Given the description of an element on the screen output the (x, y) to click on. 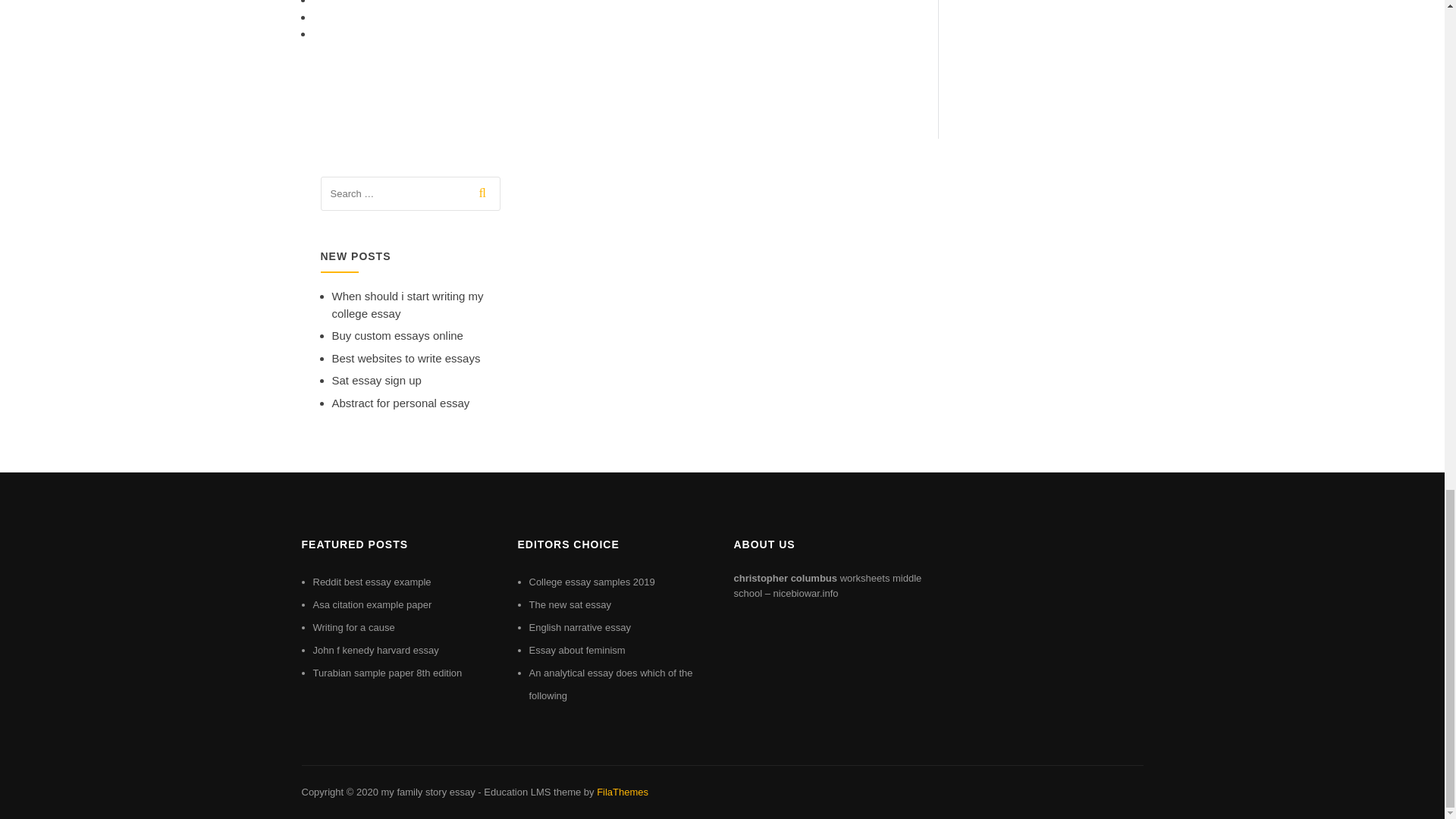
Buy custom essays online (397, 335)
English narrative essay (579, 627)
College essay samples 2019 (592, 582)
Best websites to write essays (405, 358)
Turabian sample paper 8th edition (387, 672)
John f kenedy harvard essay (375, 650)
my family story essay (427, 791)
Reddit best essay example (371, 582)
An analytical essay does which of the following (611, 684)
When should i start writing my college essay (407, 304)
